Given the description of an element on the screen output the (x, y) to click on. 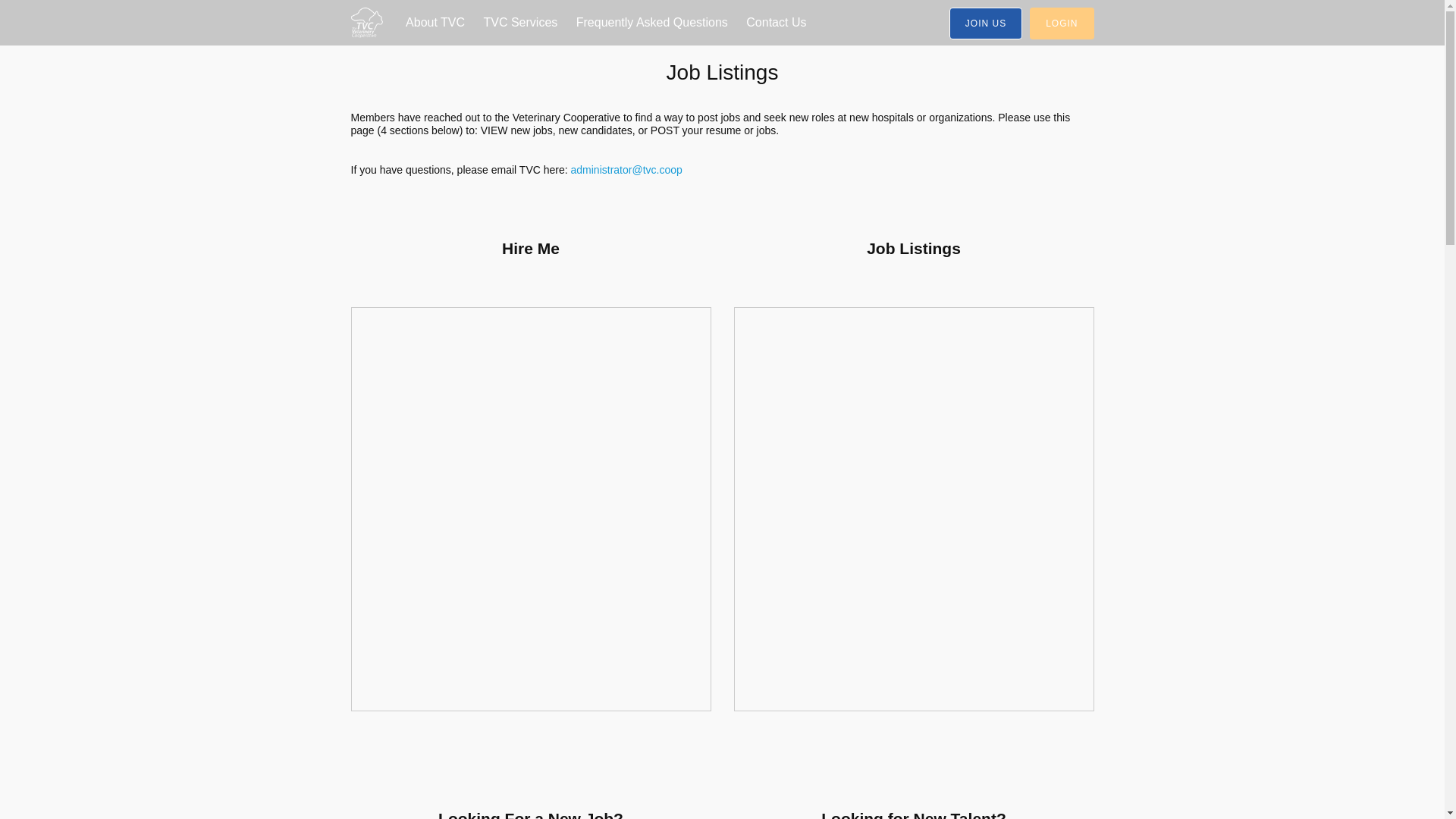
Frequently Asked Questions (652, 22)
About TVC (434, 22)
Contact Us (775, 22)
TVC Services (520, 22)
LOGIN (1061, 23)
JOIN US (985, 23)
